Given the description of an element on the screen output the (x, y) to click on. 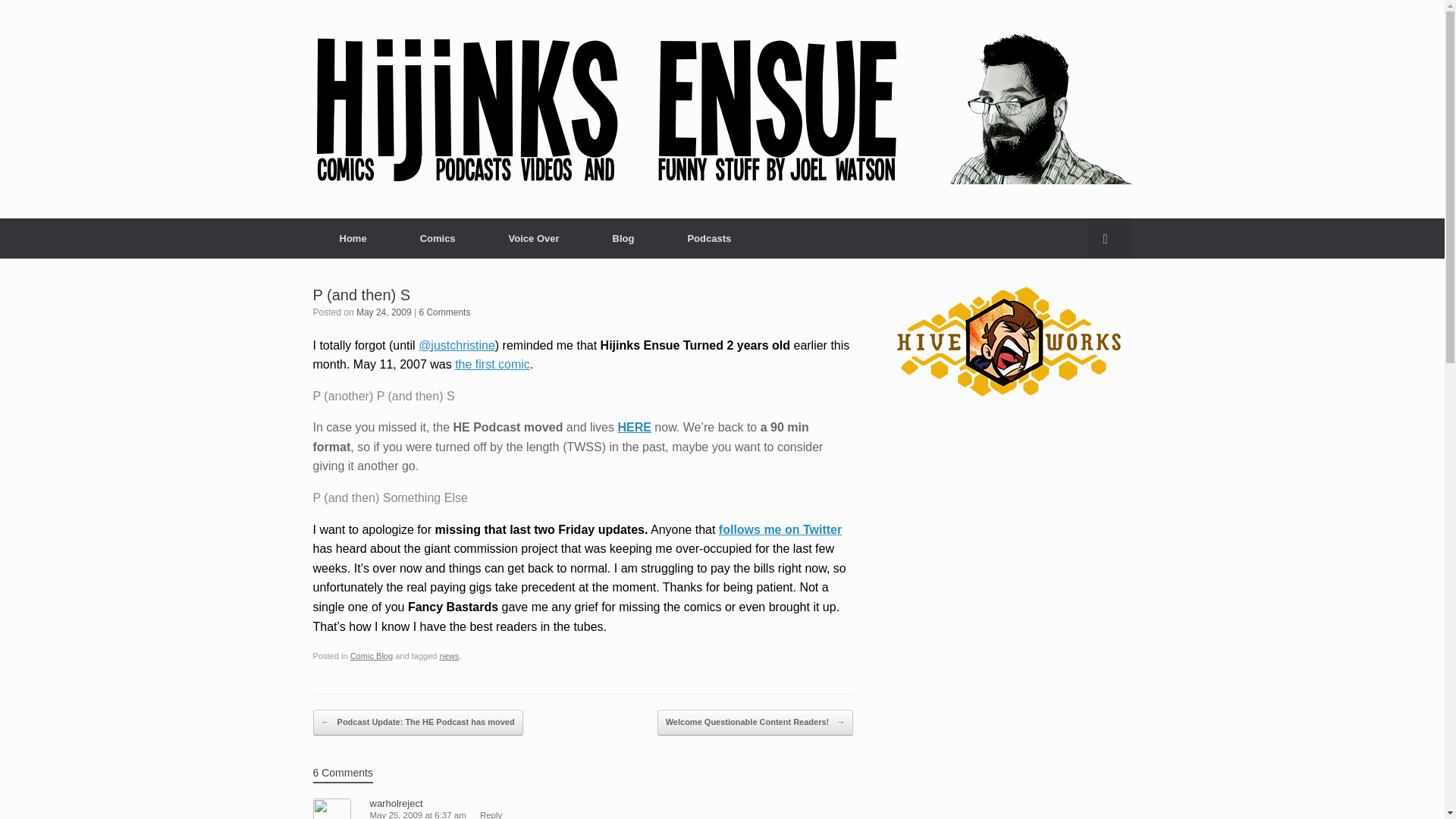
Voice Over (533, 238)
follows me on Twitter (780, 529)
the first comic (491, 364)
Reply (491, 814)
May 24, 2009 (384, 312)
news (449, 655)
11:55 pm (384, 312)
Podcasts (709, 238)
May 25, 2009 at 6:37 am (417, 814)
6 Comments (444, 312)
Comics (437, 238)
Blog (623, 238)
HERE (633, 427)
warholreject (396, 803)
HijiNKS ENSUE (722, 109)
